Given the description of an element on the screen output the (x, y) to click on. 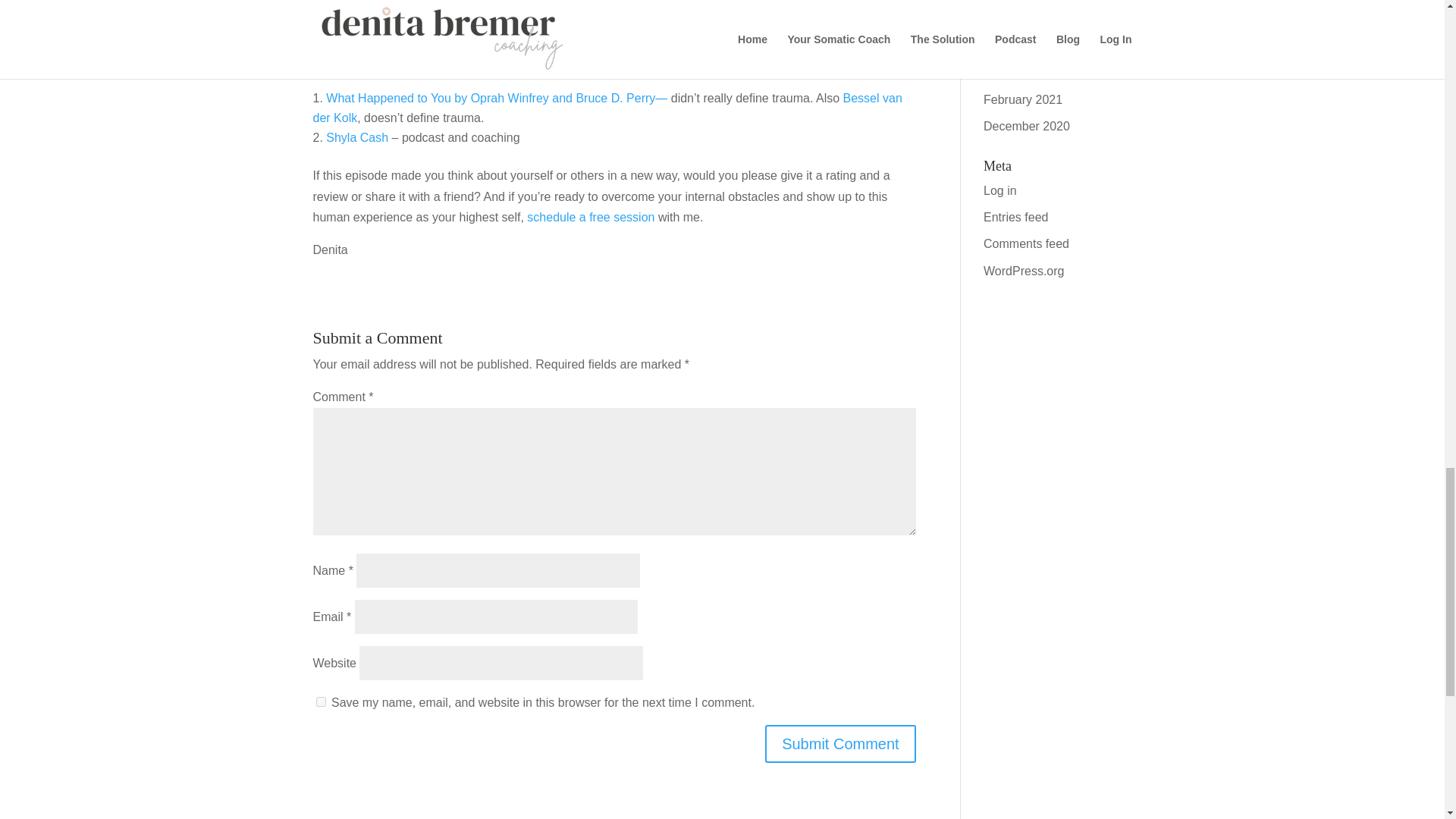
Submit Comment (840, 743)
trauma that has been unresolved (566, 24)
Bessel van der Kolk (607, 107)
schedule a free session (592, 216)
Submit Comment (840, 743)
Shyla Cash (357, 137)
yes (319, 701)
